Given the description of an element on the screen output the (x, y) to click on. 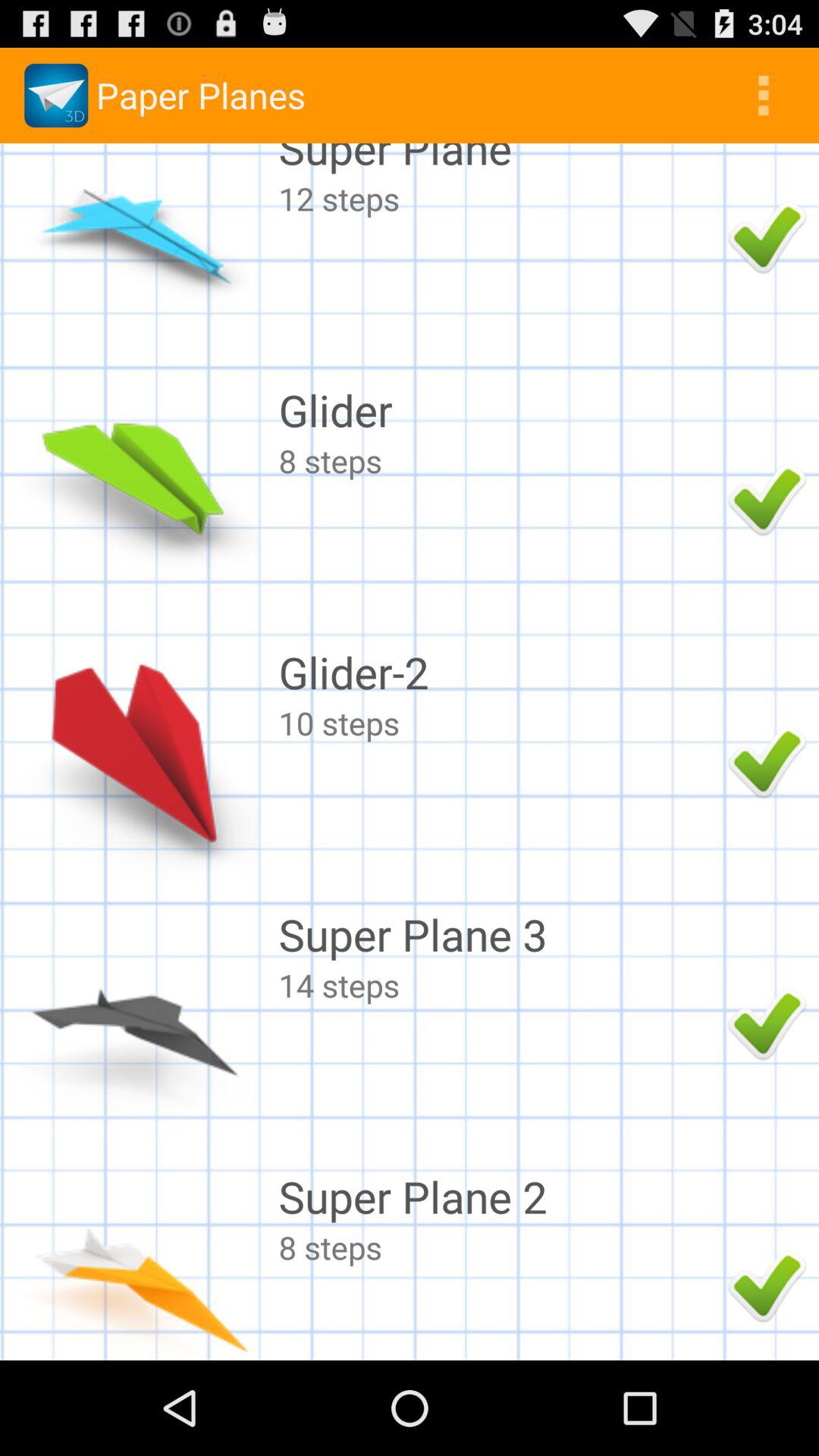
choose the app above super plane  icon (763, 95)
